Given the description of an element on the screen output the (x, y) to click on. 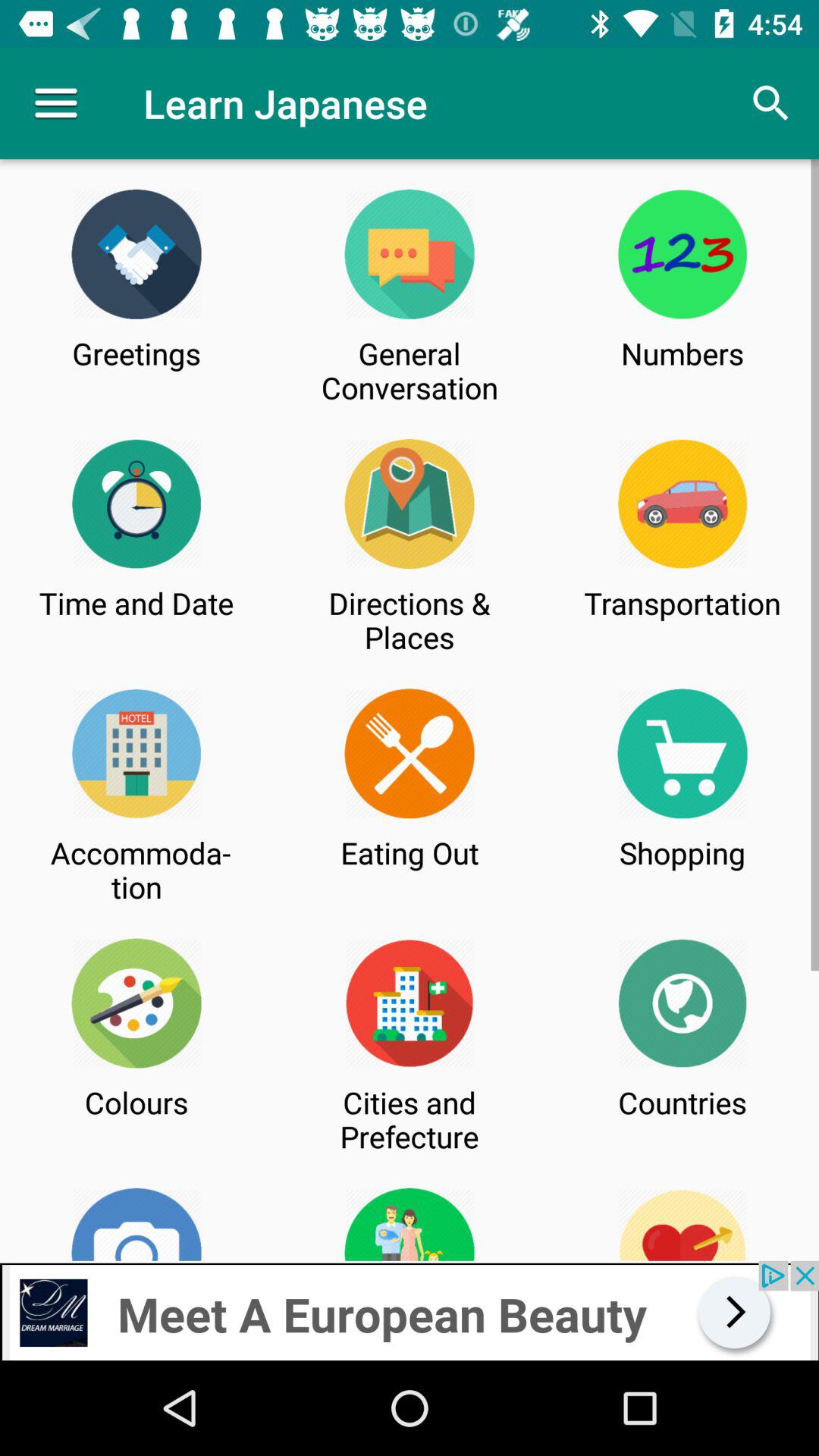
select the icon which is just above numbers (682, 253)
select the logo which is just above the colors (136, 1003)
select the image which is above the cities and prefecture (409, 1003)
select the image which is above the cities and prefecture (409, 1003)
select the car (682, 504)
select the heart icon (682, 1224)
select the camera icon (136, 1224)
